Given the description of an element on the screen output the (x, y) to click on. 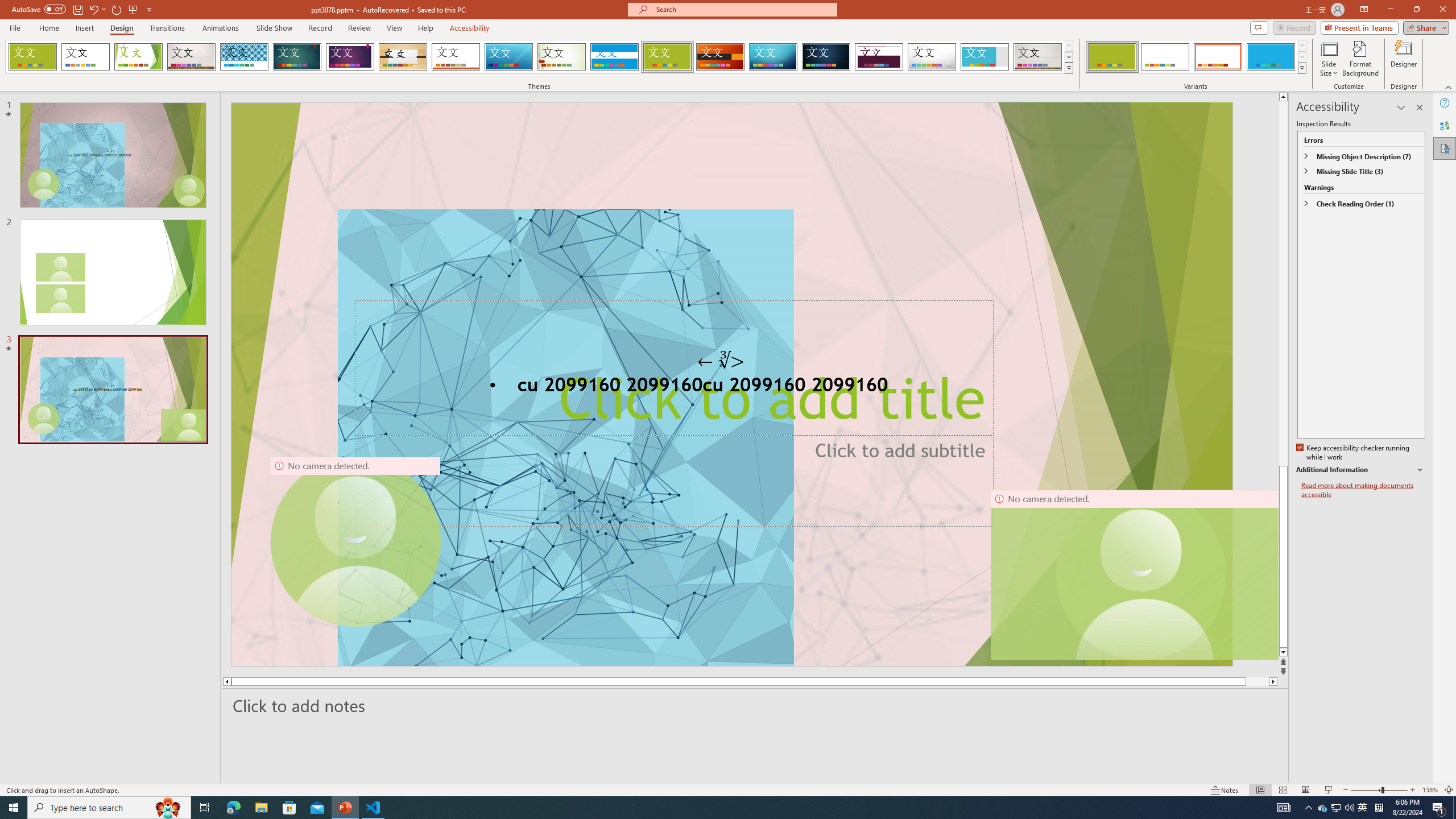
Berlin (720, 56)
Slice (508, 56)
TextBox 61 (730, 386)
Ion Boardroom (350, 56)
